Given the description of an element on the screen output the (x, y) to click on. 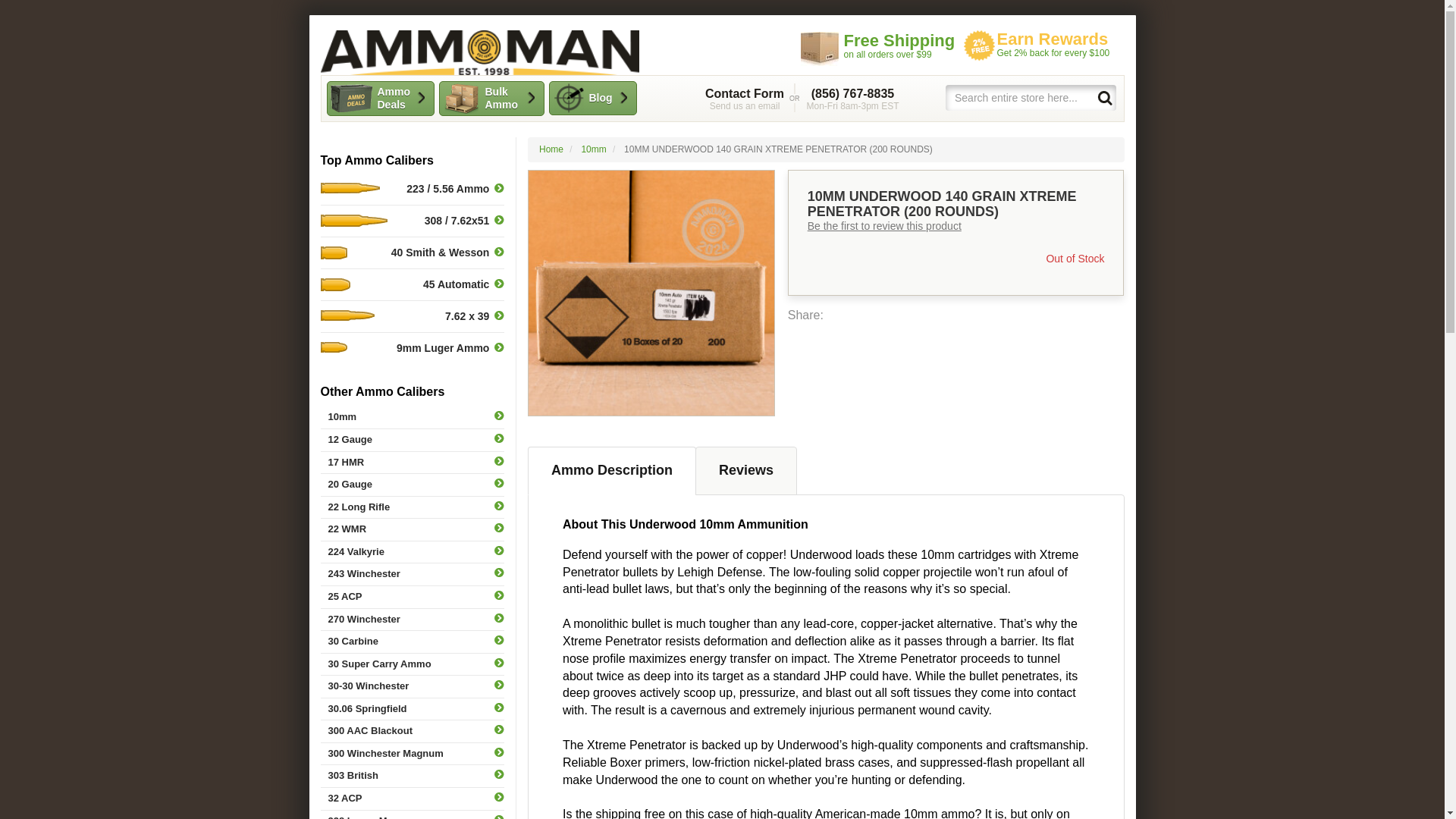
Search (1104, 96)
Bulk Ammo (744, 98)
45 Automatic (490, 98)
20 Gauge (411, 284)
Ammo Description (411, 485)
Blog (611, 470)
Ammo rewards program (592, 98)
10mm (1038, 45)
7.62 x 39 (592, 149)
